Given the description of an element on the screen output the (x, y) to click on. 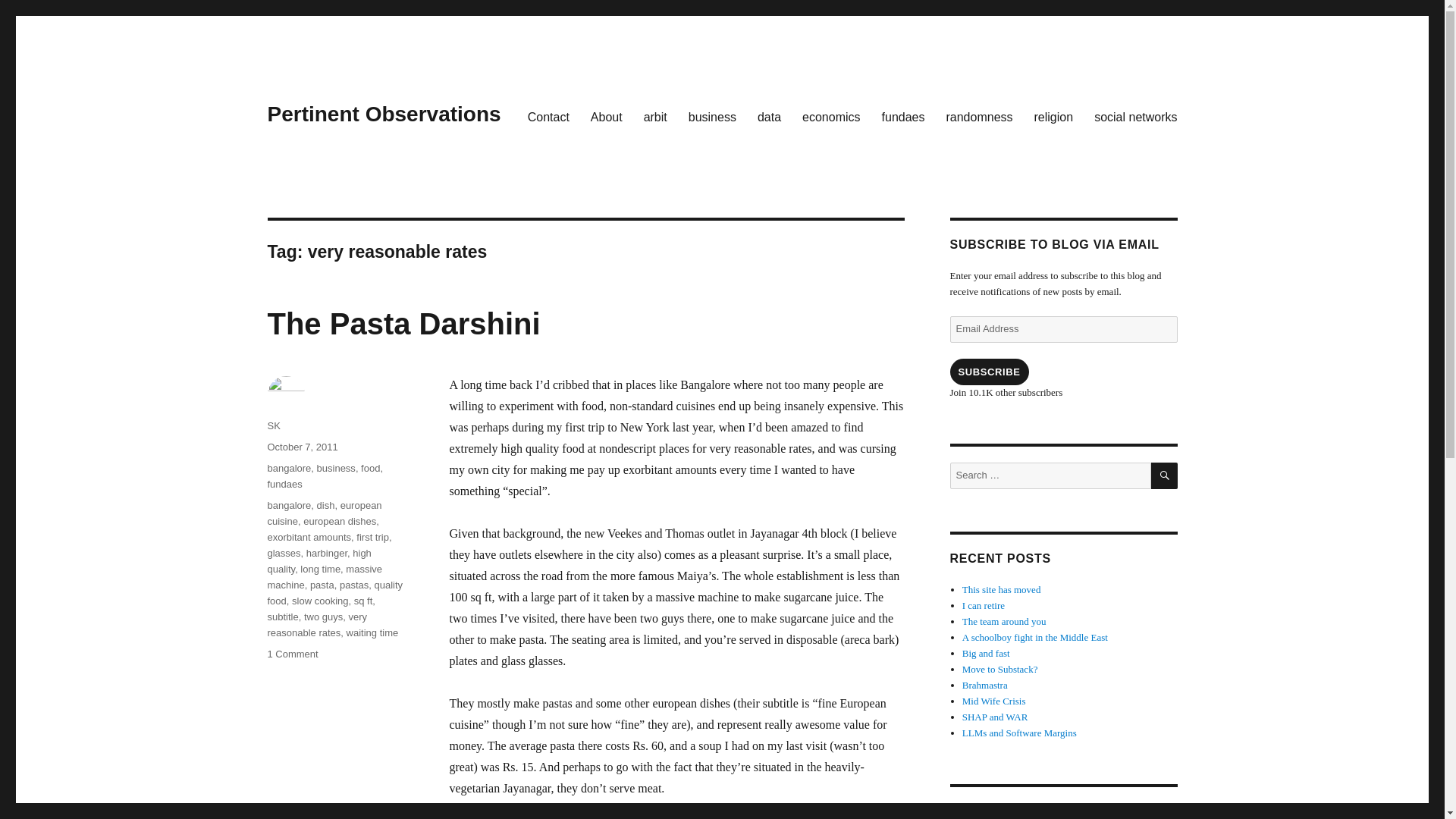
data (769, 116)
quality food (334, 592)
bangalore (288, 505)
business (336, 468)
first trip (372, 536)
October 7, 2011 (301, 446)
economics (831, 116)
fundaes (903, 116)
SK (272, 425)
Contact (547, 116)
subtitle (282, 616)
dish (325, 505)
business (712, 116)
The Pasta Darshini (403, 323)
sq ft (362, 600)
